Given the description of an element on the screen output the (x, y) to click on. 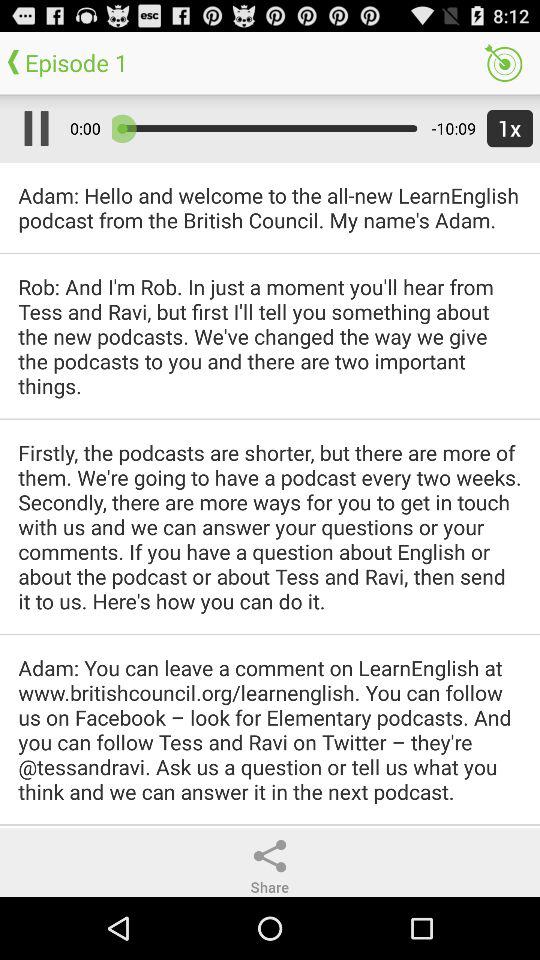
jump until the firstly the podcasts item (270, 526)
